Given the description of an element on the screen output the (x, y) to click on. 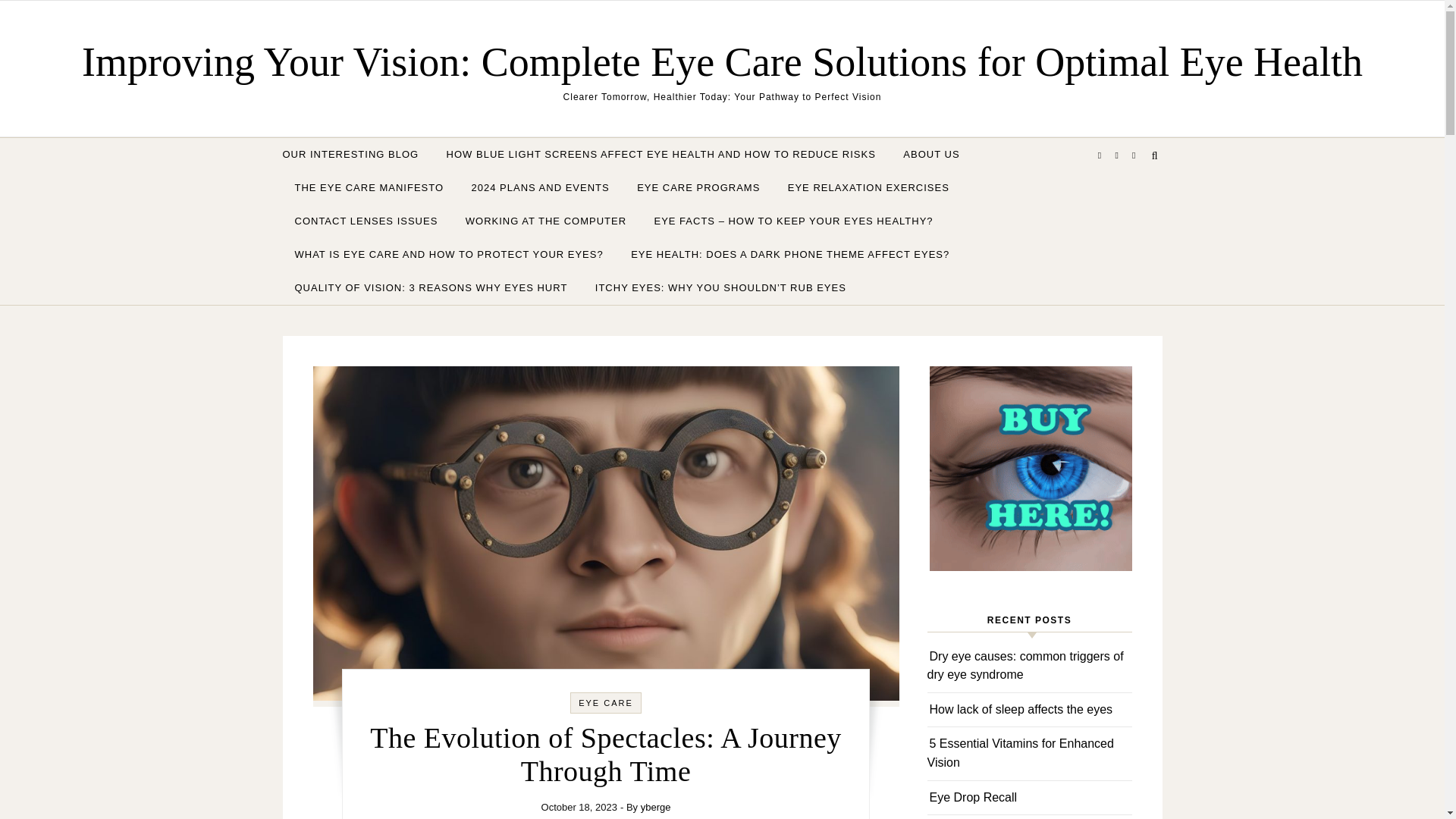
QUALITY OF VISION: 3 REASONS WHY EYES HURT (430, 287)
EYE CARE PROGRAMS (697, 187)
OUR INTERESTING BLOG (356, 154)
2024 PLANS AND EVENTS (540, 187)
ABOUT US (931, 154)
yberge (655, 807)
Posts by yberge (655, 807)
EYE RELAXATION EXERCISES (868, 187)
EYE HEALTH: DOES A DARK PHONE THEME AFFECT EYES? (789, 254)
WORKING AT THE COMPUTER (545, 221)
EYE CARE (605, 702)
CONTACT LENSES ISSUES (365, 221)
WHAT IS EYE CARE AND HOW TO PROTECT YOUR EYES? (448, 254)
